Given the description of an element on the screen output the (x, y) to click on. 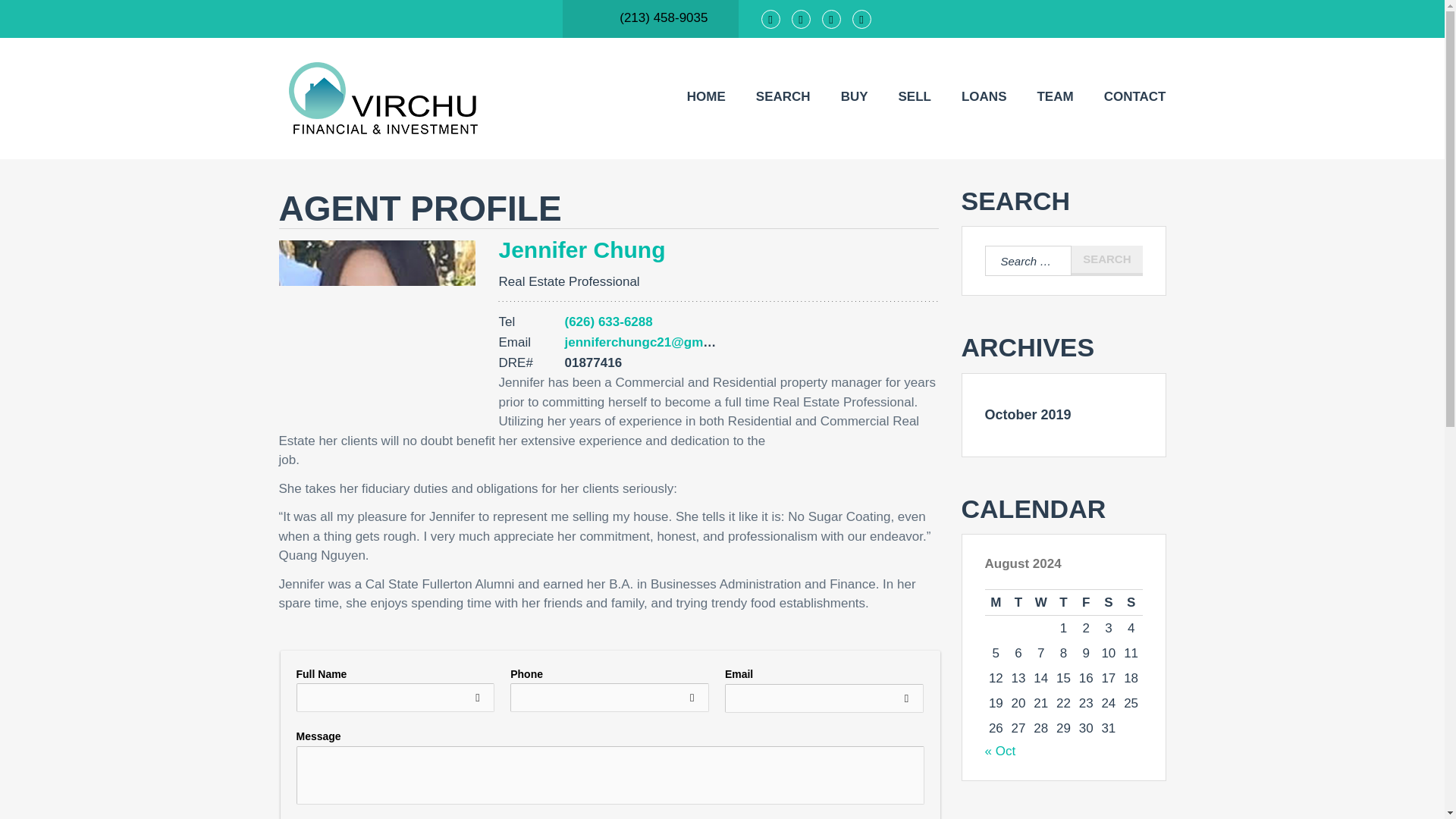
Search (1106, 260)
LOANS (983, 96)
SEARCH (782, 96)
October 2019 (1027, 414)
HOME (706, 96)
Jennifer Chung (581, 249)
BUY (854, 96)
VIRCHU (430, 98)
Search (1106, 260)
Search (1106, 260)
